Given the description of an element on the screen output the (x, y) to click on. 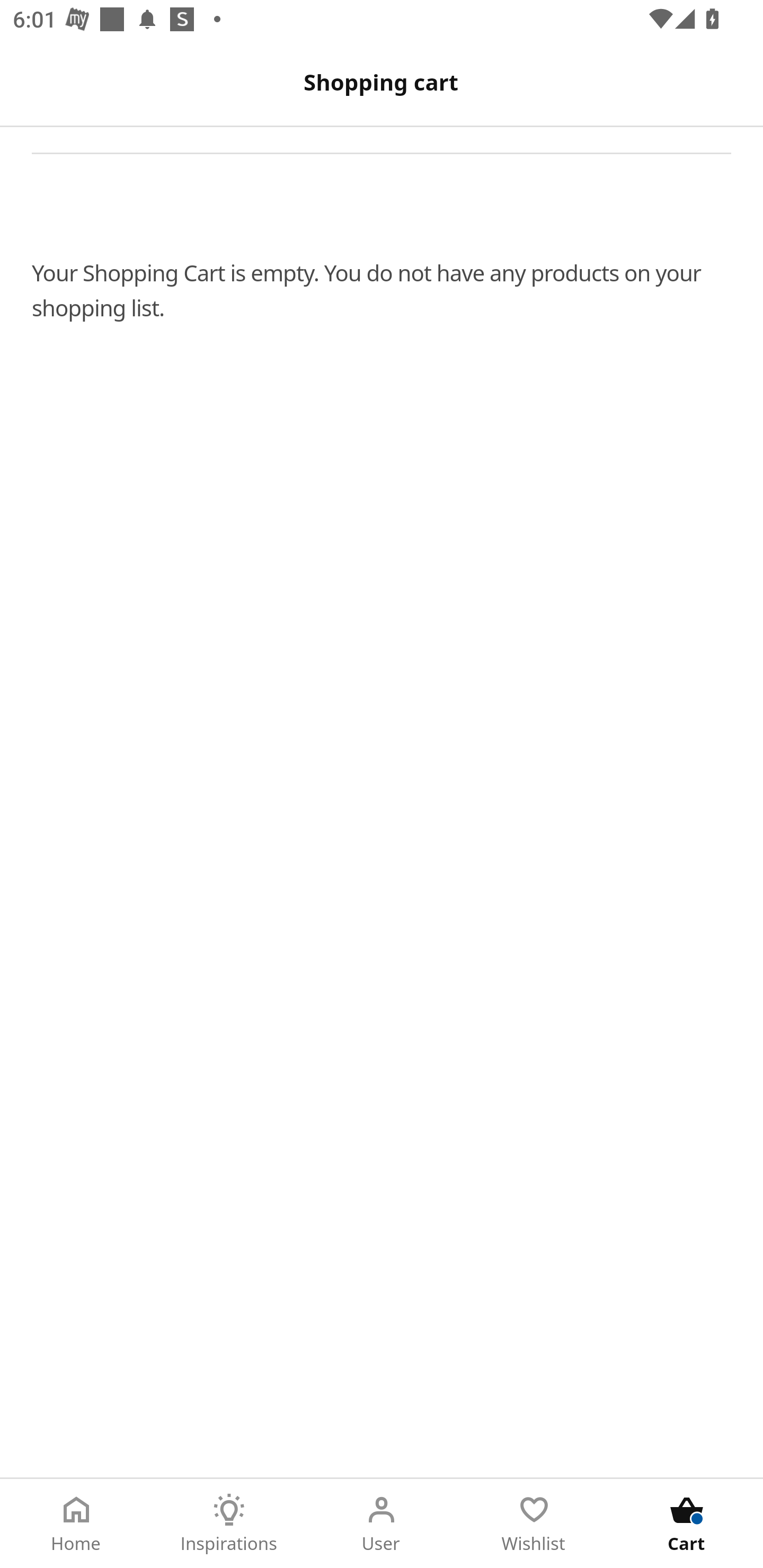
Home
Tab 1 of 5 (76, 1522)
Inspirations
Tab 2 of 5 (228, 1522)
User
Tab 3 of 5 (381, 1522)
Wishlist
Tab 4 of 5 (533, 1522)
Cart
Tab 5 of 5 (686, 1522)
